Given the description of an element on the screen output the (x, y) to click on. 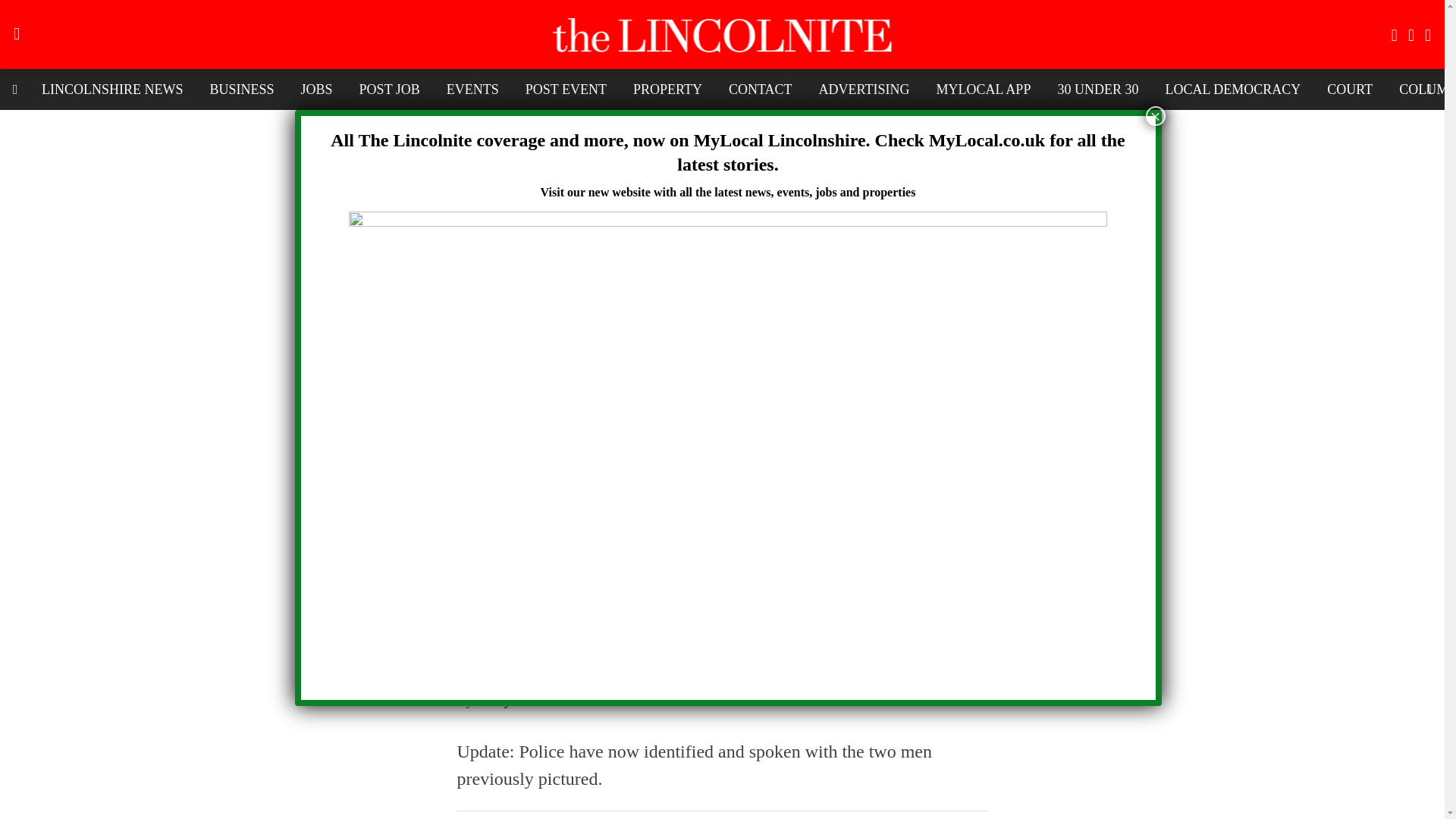
MYLOCAL APP (983, 88)
EVENTS (473, 88)
POST JOB (388, 88)
LINCOLNSHIRE NEWS (112, 88)
JOBS (316, 88)
PROPERTY (667, 88)
30 UNDER 30 (1097, 88)
CONTACT (760, 88)
LOCAL DEMOCRACY (1232, 88)
BUSINESS (241, 88)
